Given the description of an element on the screen output the (x, y) to click on. 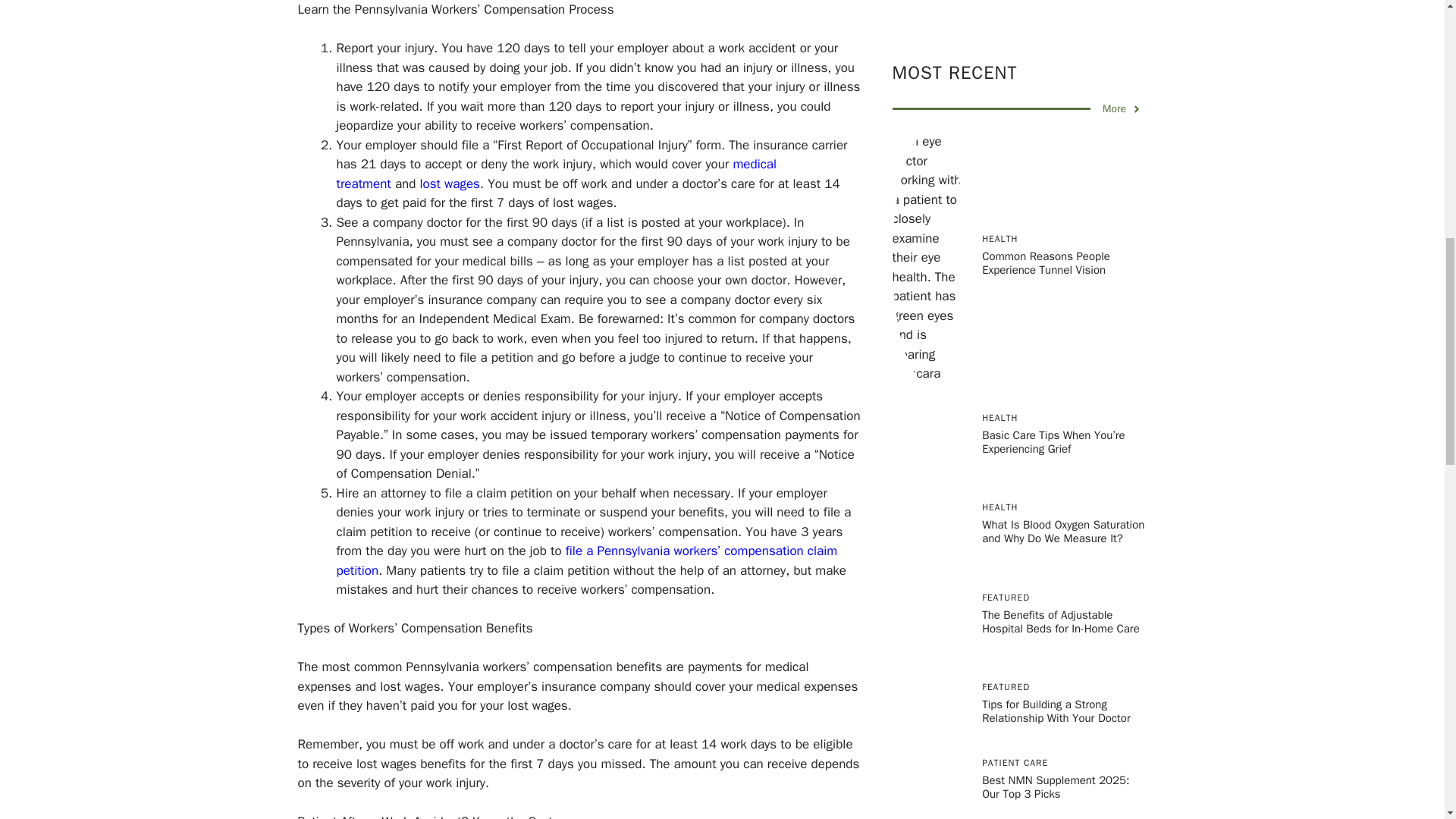
What Is Blood Oxygen Saturation and Why Do We Measure It? (1062, 297)
lost wages (450, 183)
Common Reasons People Experience Tunnel Vision (1045, 28)
medical treatment (556, 173)
